Given the description of an element on the screen output the (x, y) to click on. 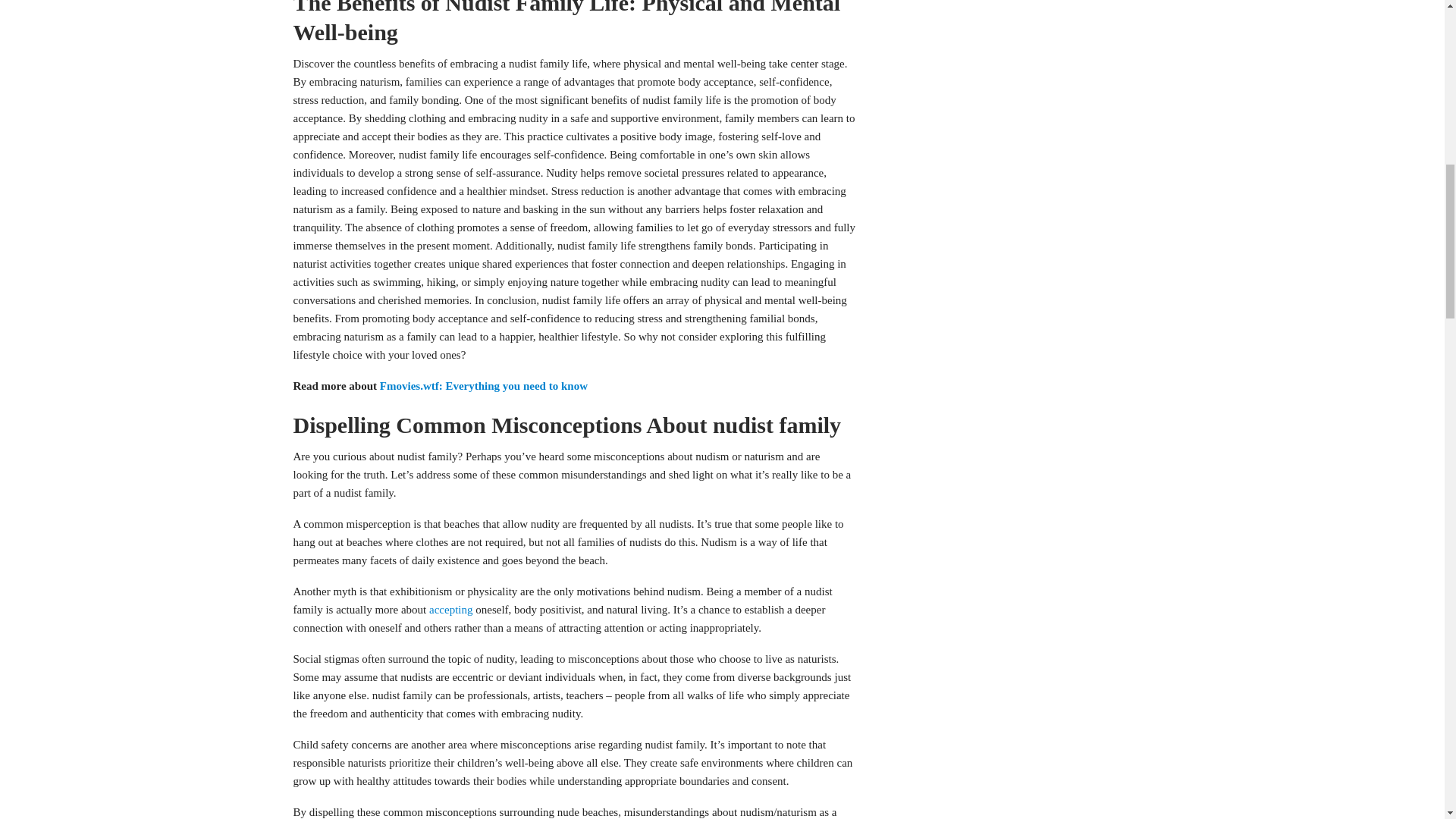
Fmovies.wtf: Everything you need to know  (485, 386)
accepting (450, 609)
